Given the description of an element on the screen output the (x, y) to click on. 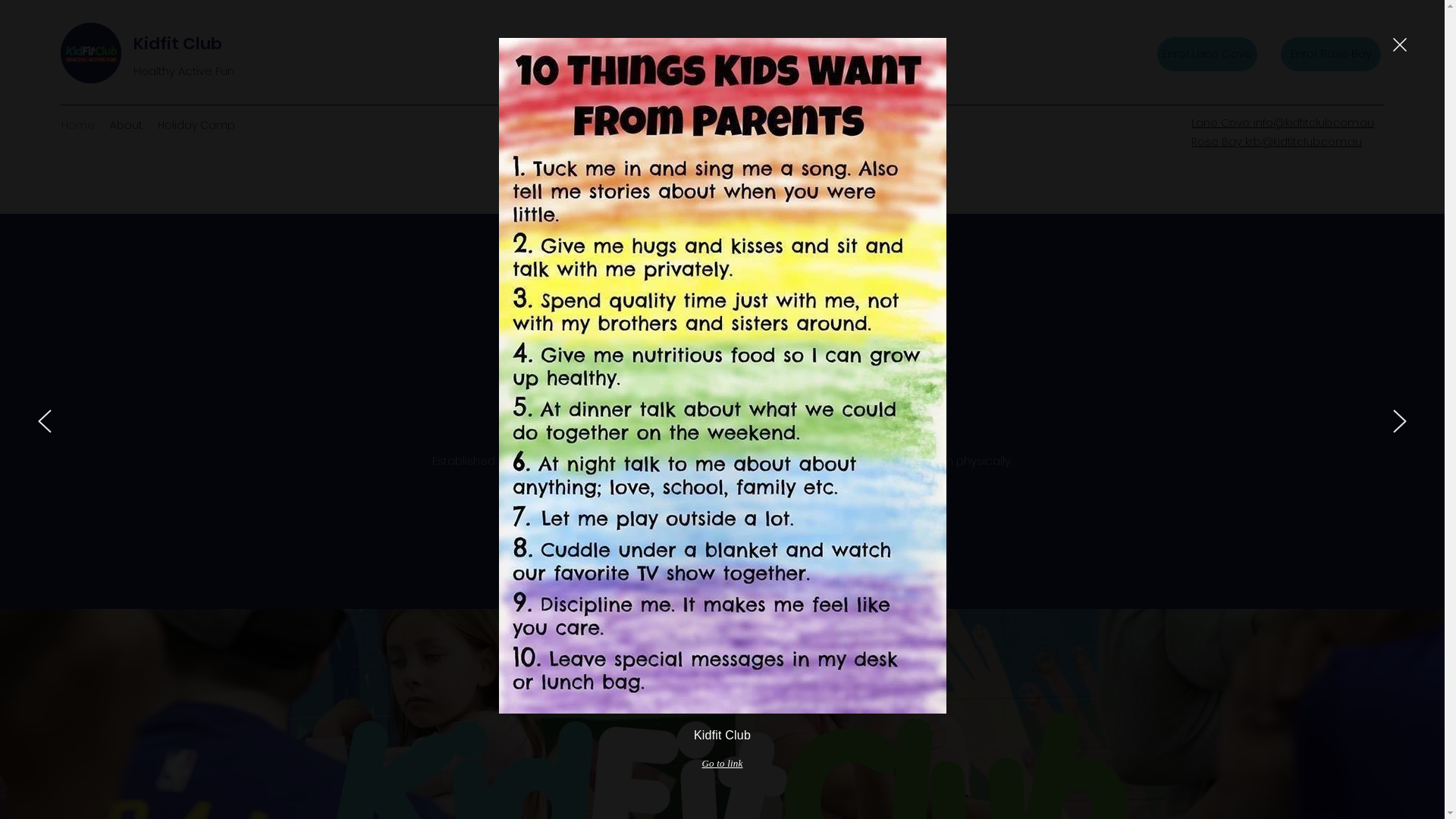
Kidfit Club Element type: text (177, 43)
info@kidfitclub.com.au Element type: text (1313, 122)
Lane Cove: Element type: text (1222, 122)
Enrol Element type: text (721, 550)
Go to link Element type: text (721, 763)
krb@kidfitclub.com.au Element type: text (1303, 141)
Holiday Camp Element type: text (196, 124)
Enrol: Lane Cove Element type: text (1207, 53)
Enrol: Rose Bay Element type: text (1330, 53)
About Element type: text (126, 124)
Home Element type: text (77, 124)
